Given the description of an element on the screen output the (x, y) to click on. 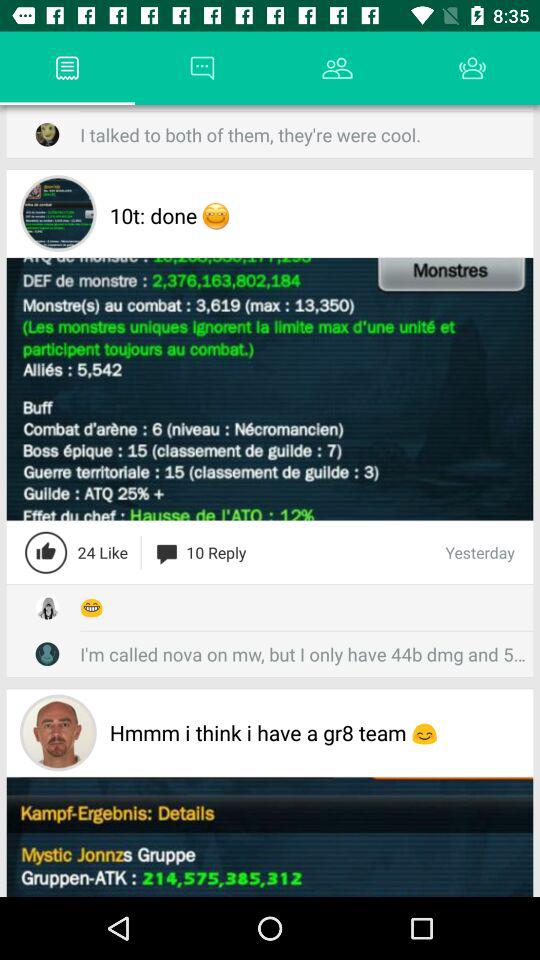
like the page (46, 552)
